Given the description of an element on the screen output the (x, y) to click on. 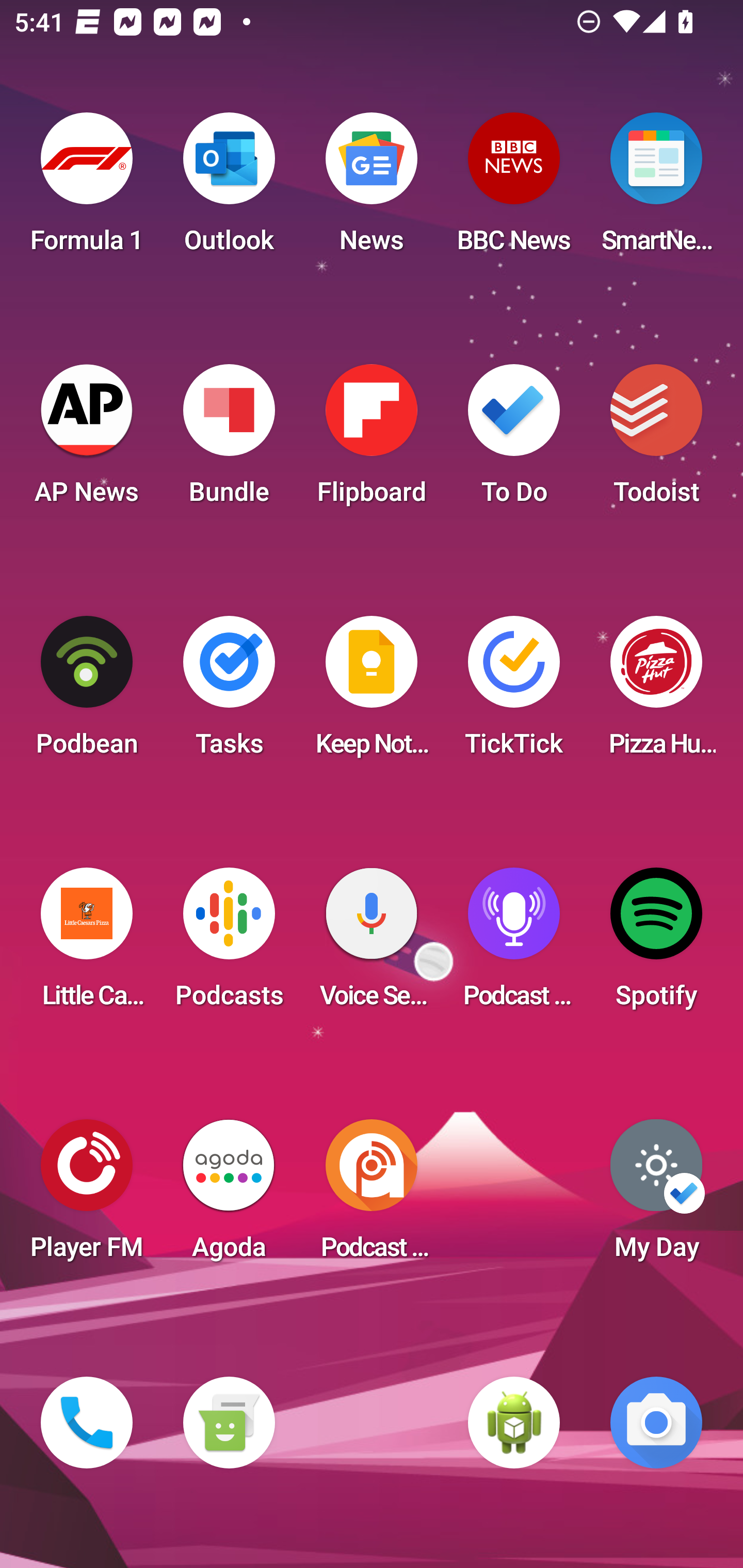
Formula 1 (86, 188)
Outlook (228, 188)
News (371, 188)
BBC News (513, 188)
SmartNews (656, 188)
AP News (86, 440)
Bundle (228, 440)
Flipboard (371, 440)
To Do (513, 440)
Todoist (656, 440)
Podbean (86, 692)
Tasks (228, 692)
Keep Notes (371, 692)
TickTick (513, 692)
Pizza Hut HK & Macau (656, 692)
Little Caesars Pizza (86, 943)
Podcasts (228, 943)
Voice Search (371, 943)
Podcast Player (513, 943)
Spotify (656, 943)
Player FM (86, 1195)
Agoda (228, 1195)
Podcast Addict (371, 1195)
My Day (656, 1195)
Phone (86, 1422)
Messaging (228, 1422)
WebView Browser Tester (513, 1422)
Camera (656, 1422)
